Given the description of an element on the screen output the (x, y) to click on. 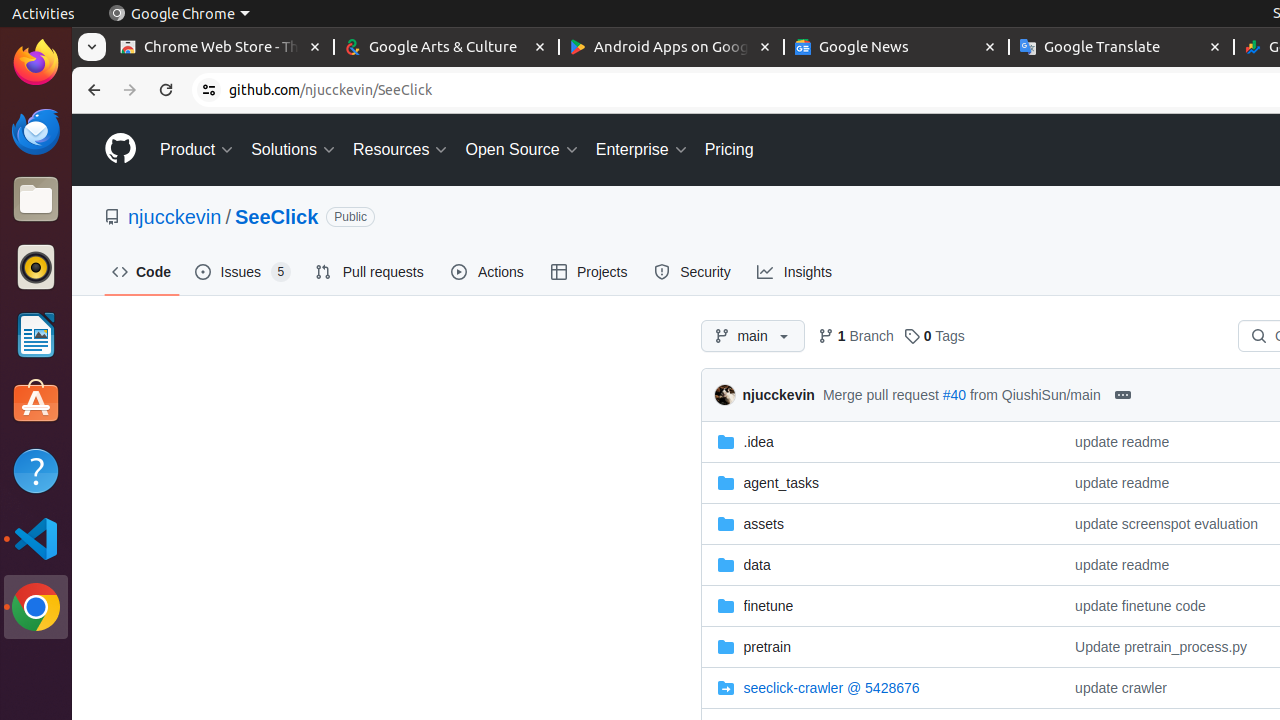
Open Source Element type: push-button (522, 150)
assets, (Directory) Element type: table-cell (880, 523)
Issues 5 Element type: link (243, 272)
Code Element type: link (141, 272)
update screenspot evaluation Element type: link (1167, 523)
